Given the description of an element on the screen output the (x, y) to click on. 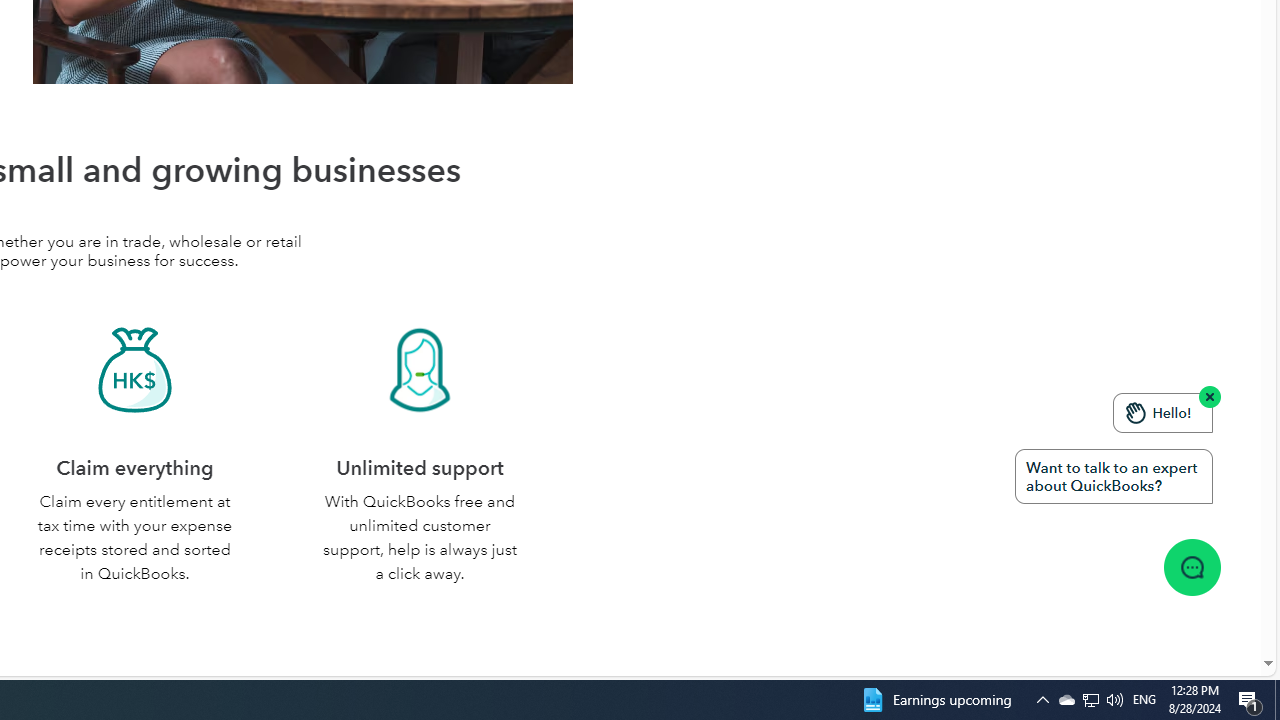
To get missing image descriptions, open the context menu. (1191, 566)
Unlimited support (419, 369)
Claim everything (134, 369)
hand-icon (1135, 412)
